Given the description of an element on the screen output the (x, y) to click on. 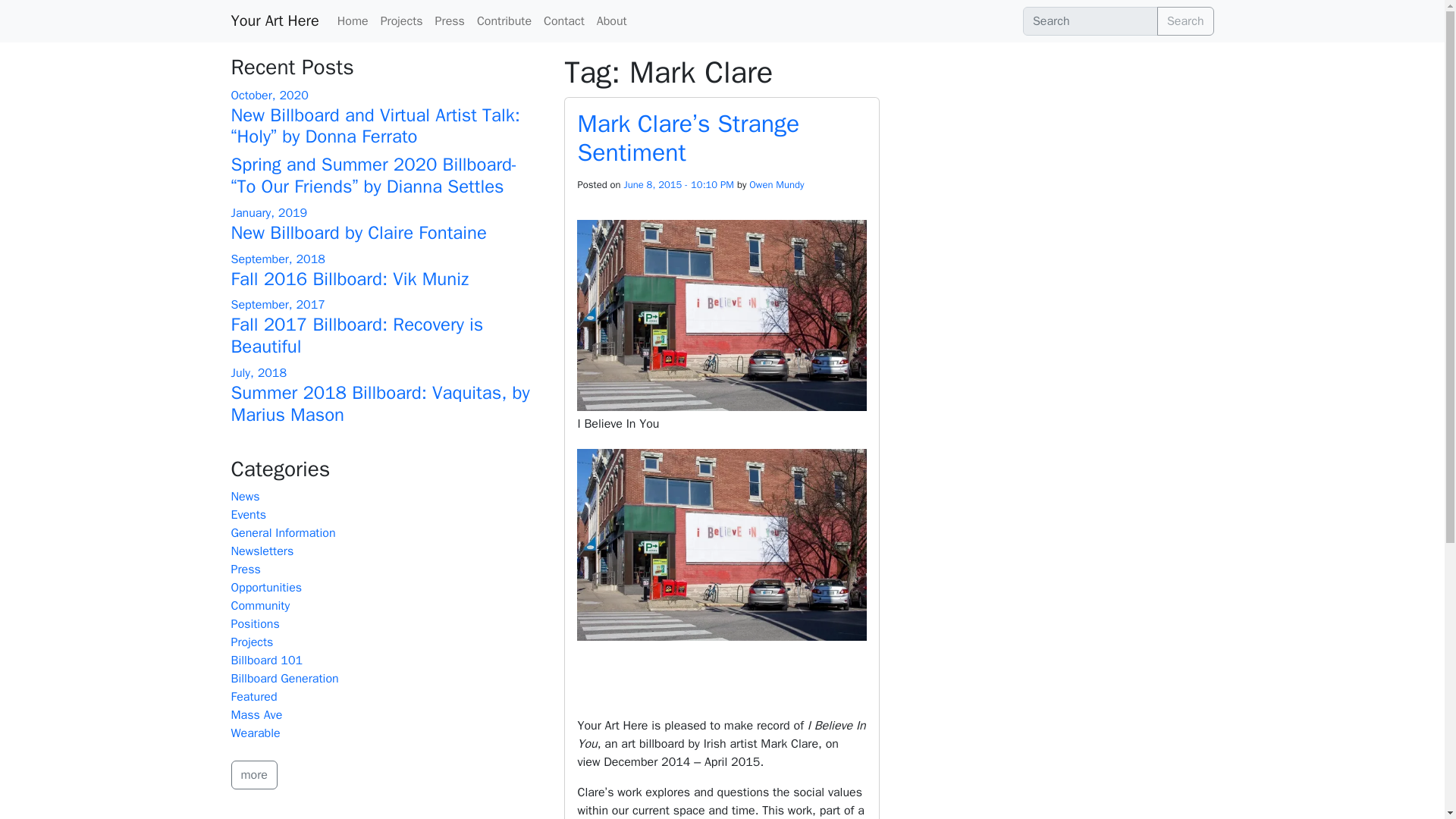
June 8, 2015 - 10:10 PM (678, 184)
Billboard 101 (266, 660)
September, 2017 (277, 304)
July, 2018 (258, 372)
Projects (401, 20)
Fall 2016 Billboard: Vik Muniz (349, 278)
Press (449, 20)
About (612, 20)
Newsletters (262, 550)
Home (352, 20)
Contribute (503, 20)
Opportunities (265, 587)
June 8, 2015 - 10:10 PM (678, 184)
Contact (564, 20)
View all posts by Owen Mundy (776, 184)
